Given the description of an element on the screen output the (x, y) to click on. 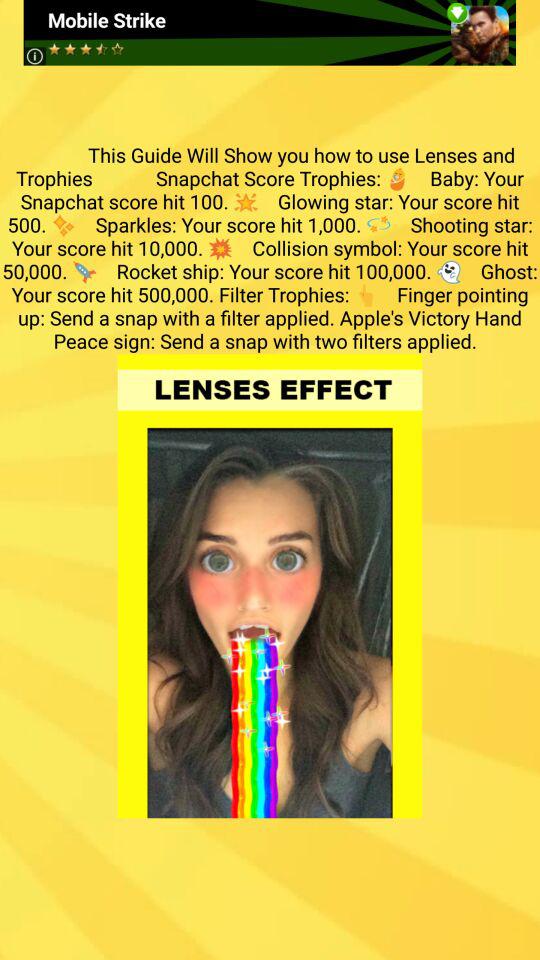
click the item above the this guide will item (269, 32)
